Given the description of an element on the screen output the (x, y) to click on. 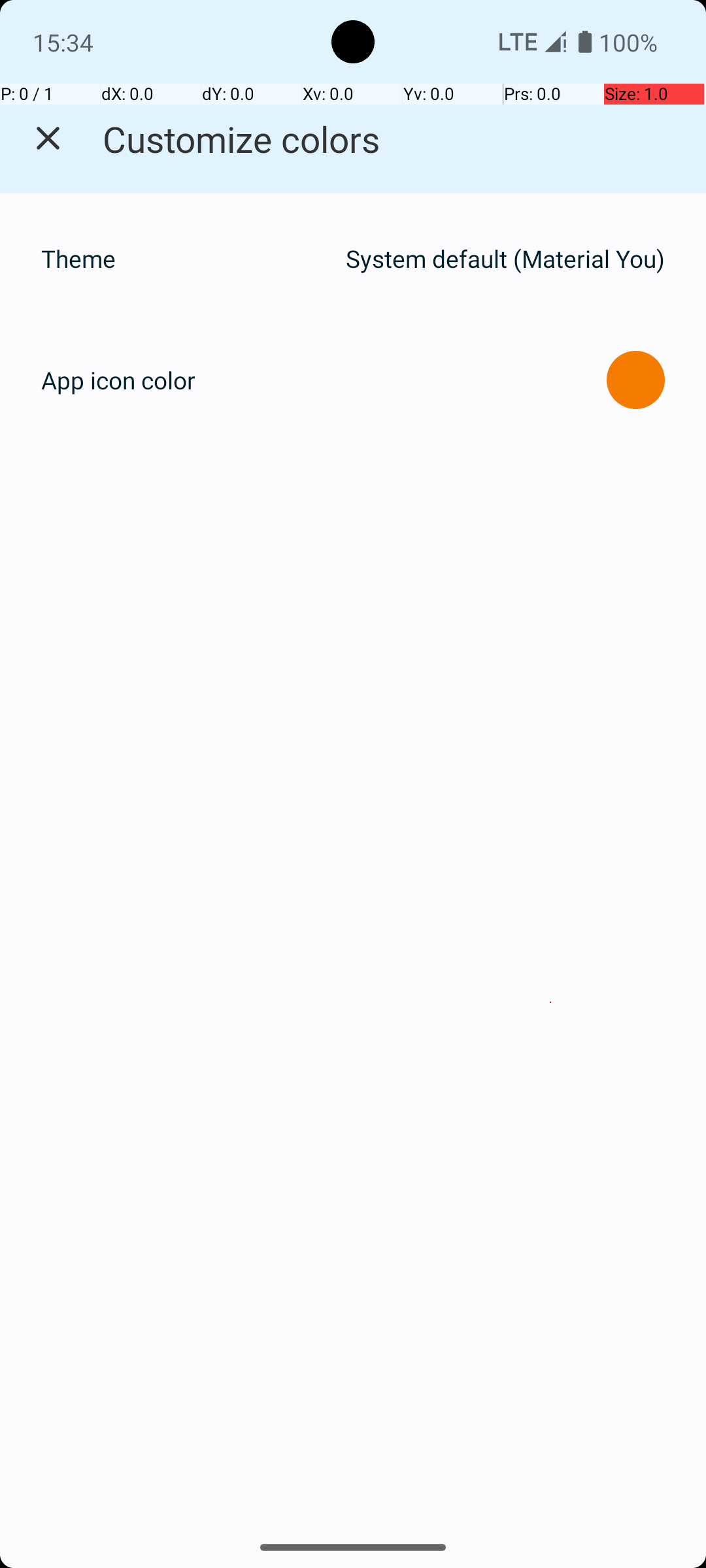
System default (Material You) Element type: android.widget.TextView (504, 258)
App icon color Element type: android.widget.TextView (118, 379)
